Given the description of an element on the screen output the (x, y) to click on. 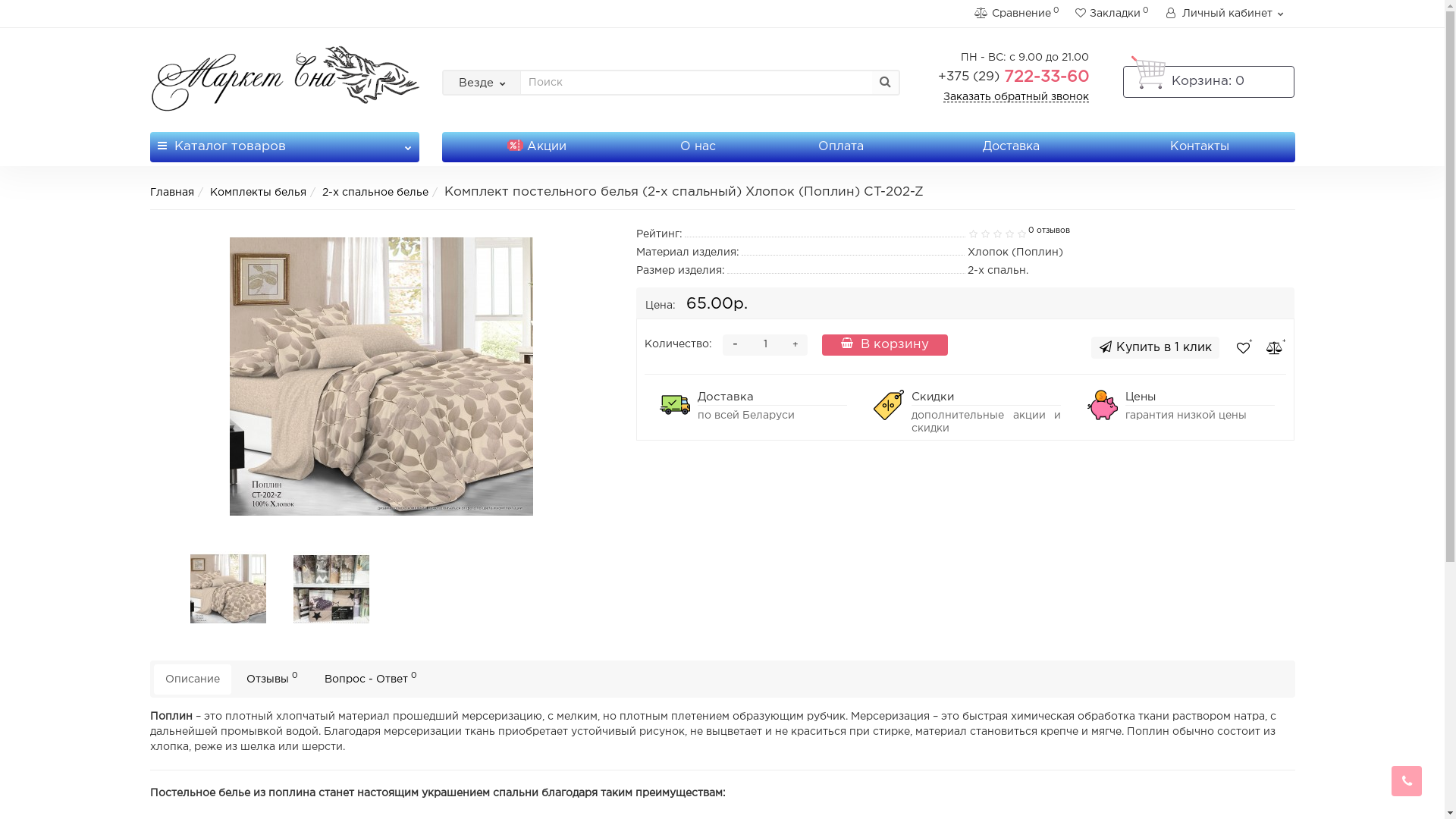
+375 (29) 722-33-60 Element type: text (1013, 77)
+ Element type: text (795, 344)
- Element type: text (734, 344)
